Given the description of an element on the screen output the (x, y) to click on. 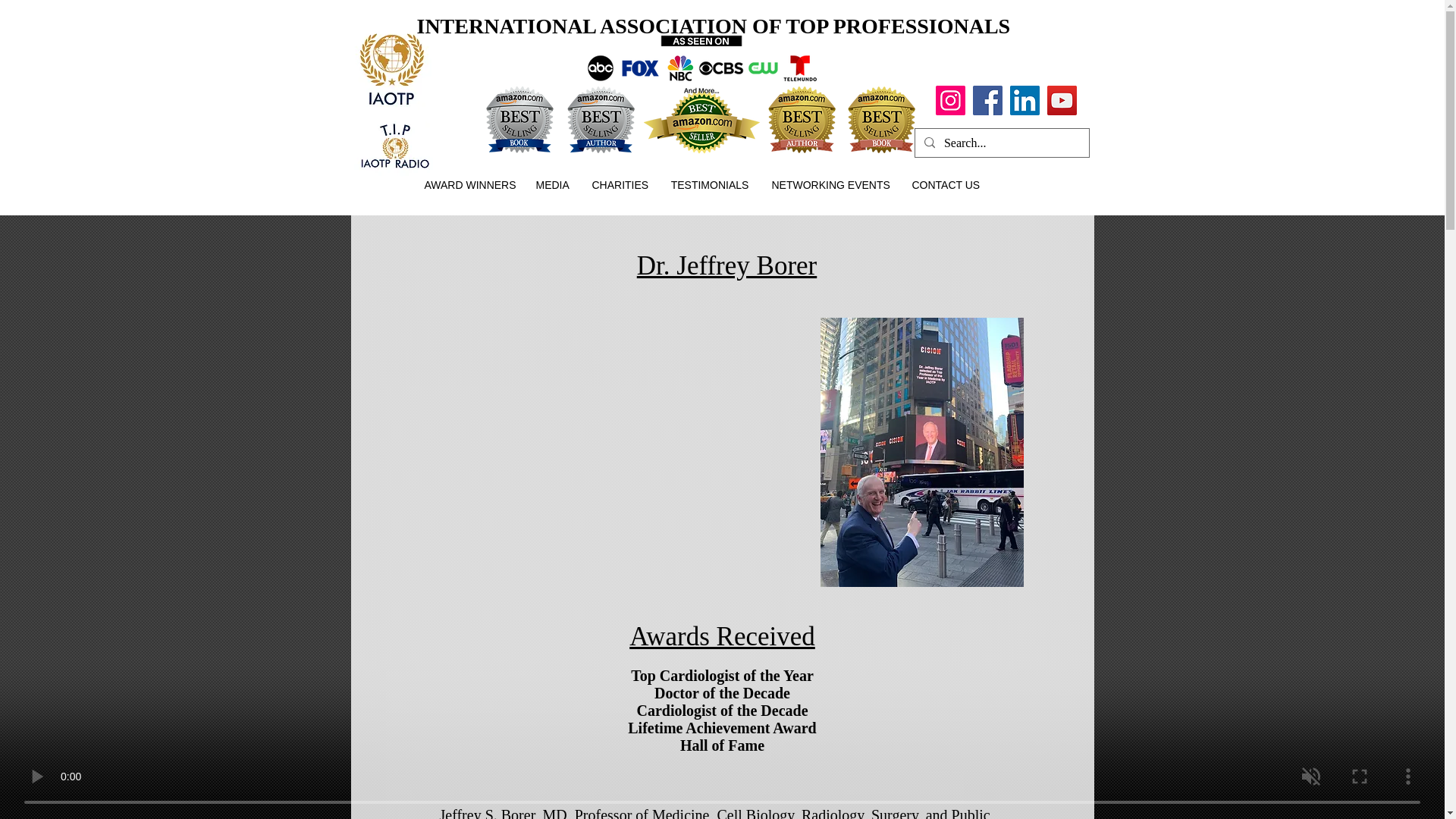
INTERNATIONAL ASSOCIATION OF TOP PROFESSIONALS (713, 25)
MEDIA (552, 184)
IAOTP (391, 69)
